Given the description of an element on the screen output the (x, y) to click on. 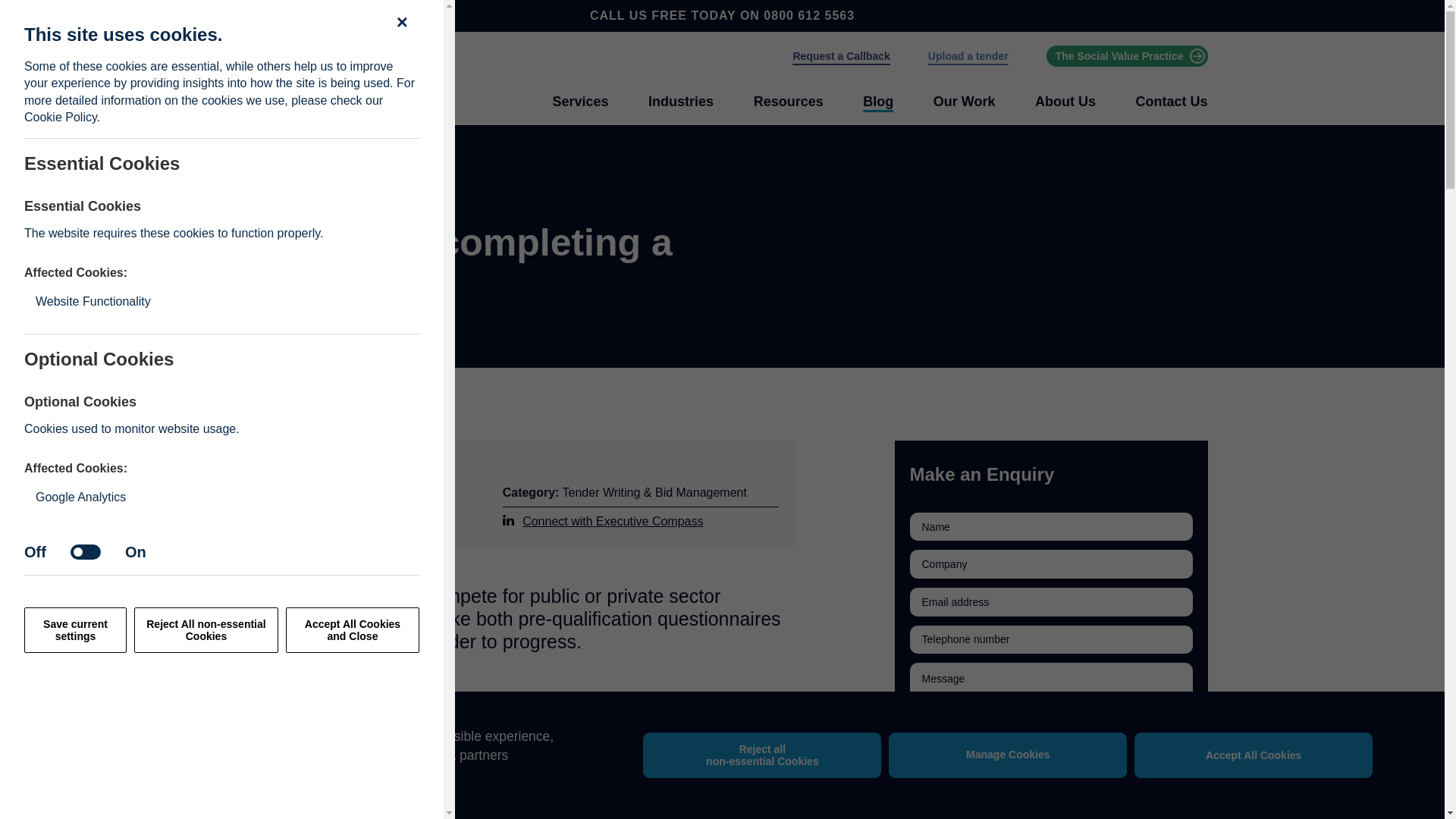
Services (579, 101)
0800 612 5563 (808, 15)
Industries (680, 101)
Find out more about The Social Value Practice (1127, 55)
The Social Value Practice (1127, 55)
Request a callback today (840, 55)
Return to the Executive Compass homepage (311, 79)
Upload a tender for review today (968, 55)
Request a Callback (840, 55)
Call us now on 0800 612 5563 (808, 15)
